Given the description of an element on the screen output the (x, y) to click on. 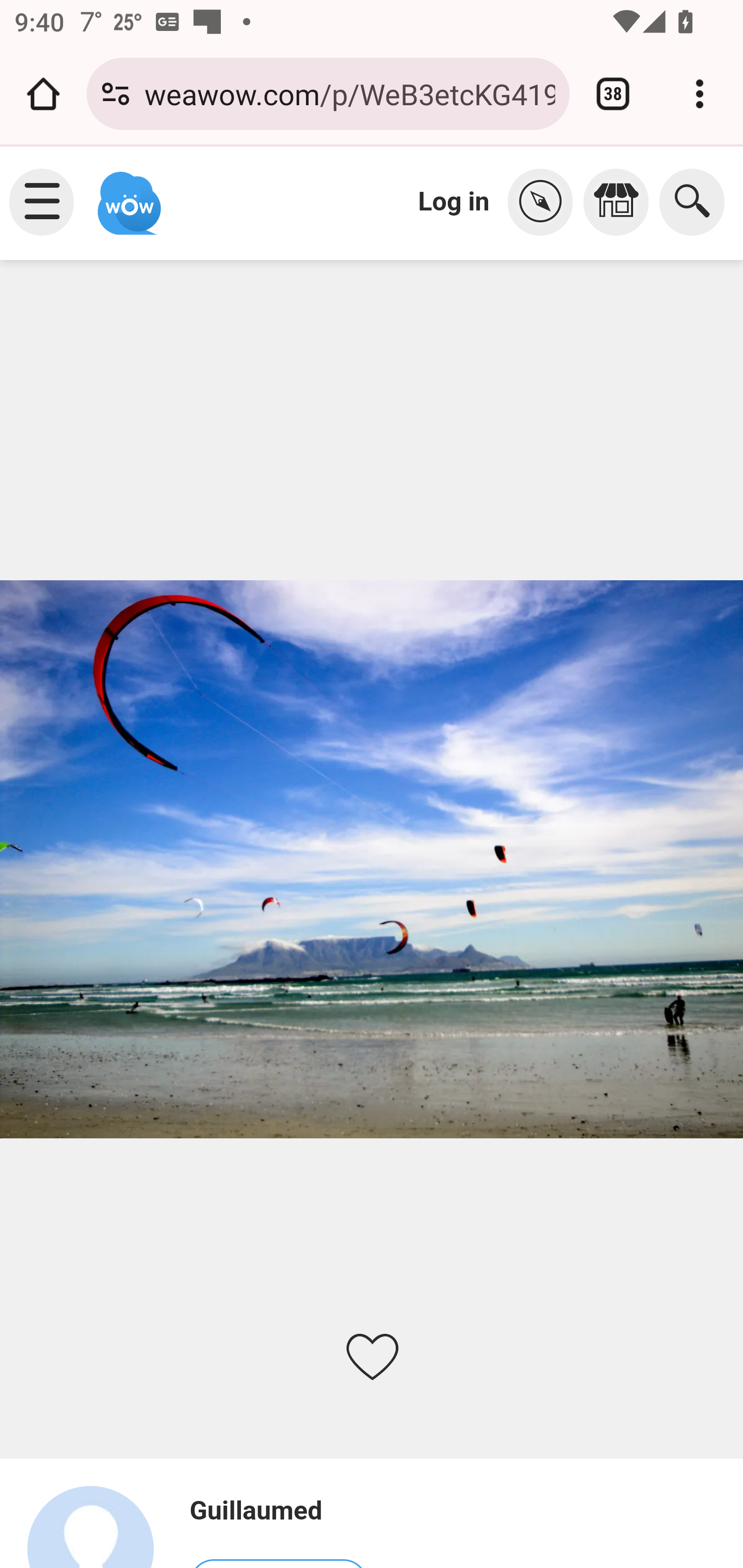
Open the home page (43, 93)
Connection is secure (115, 93)
Switch or close tabs (612, 93)
Customize and control Google Chrome (699, 93)
weawow.com/p/WeB3etcKG4190547 (349, 92)
Weawow (127, 194)
 (545, 201)
 (621, 201)
Log in (453, 201)
Guillaumed (99, 1525)
Guillaumed (277, 1510)
